Given the description of an element on the screen output the (x, y) to click on. 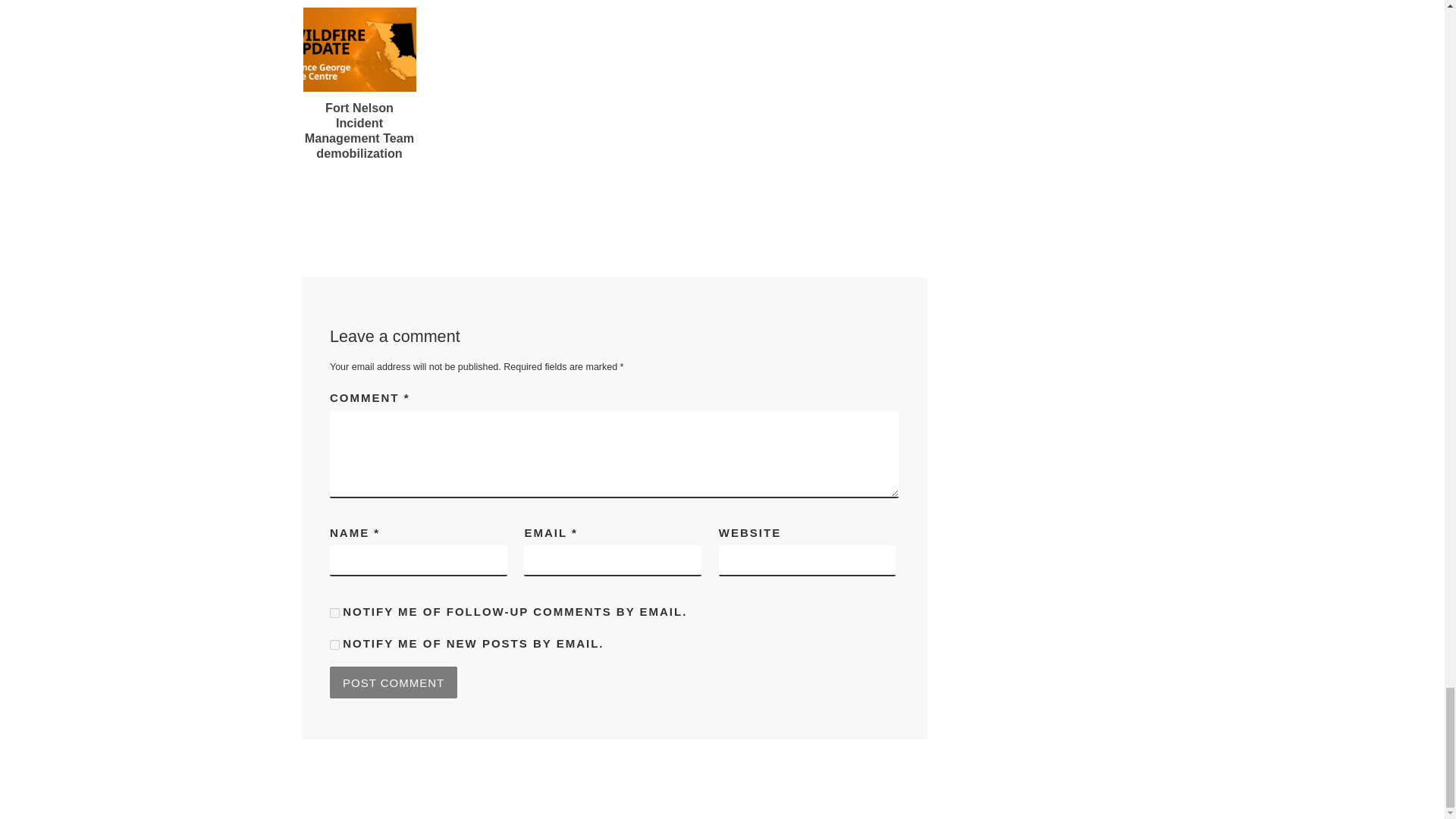
subscribe (334, 613)
subscribe (334, 644)
Post Comment (393, 682)
